Given the description of an element on the screen output the (x, y) to click on. 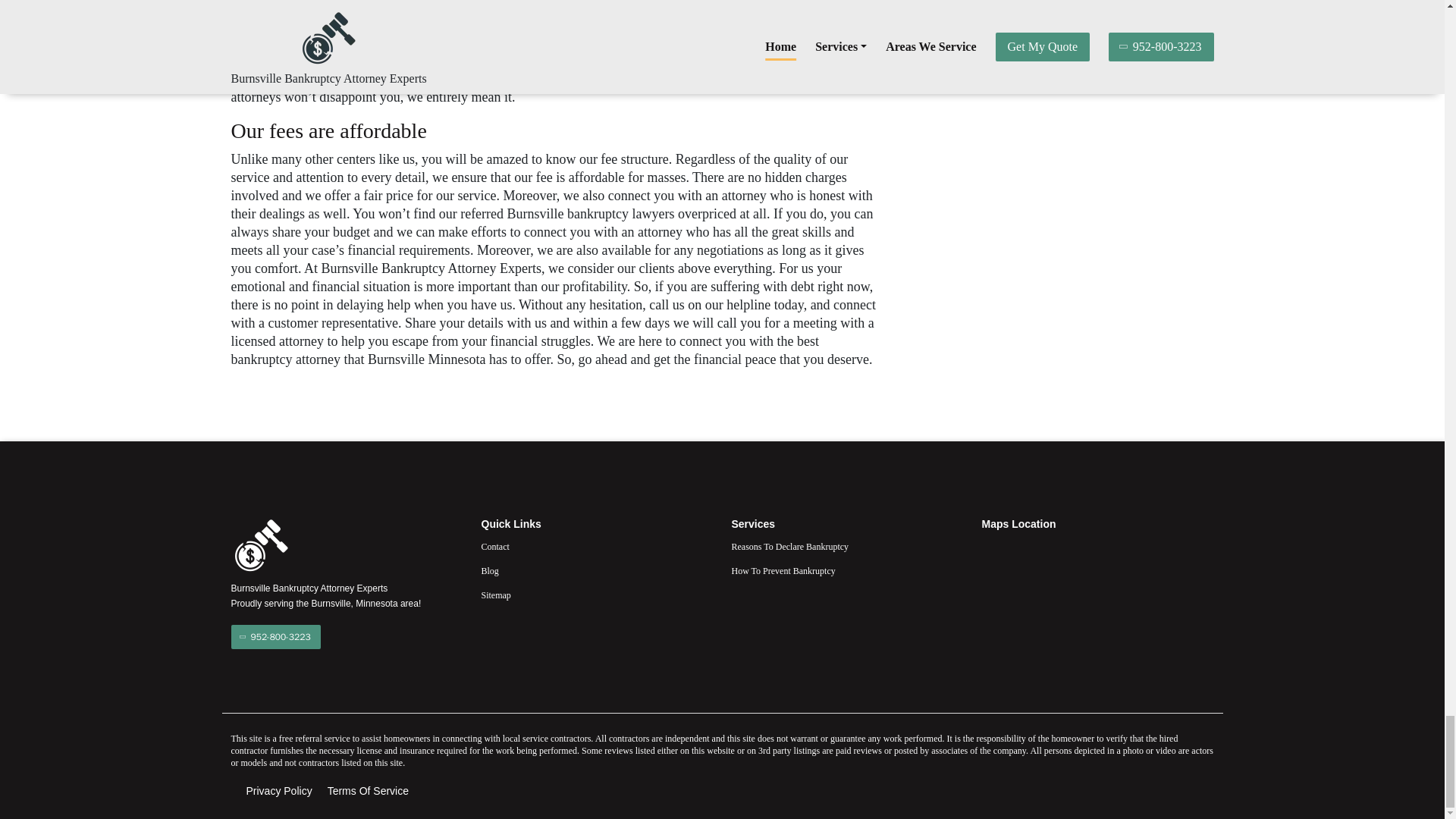
952-800-3223 (275, 636)
Blog (596, 570)
Contact (596, 546)
